Given the description of an element on the screen output the (x, y) to click on. 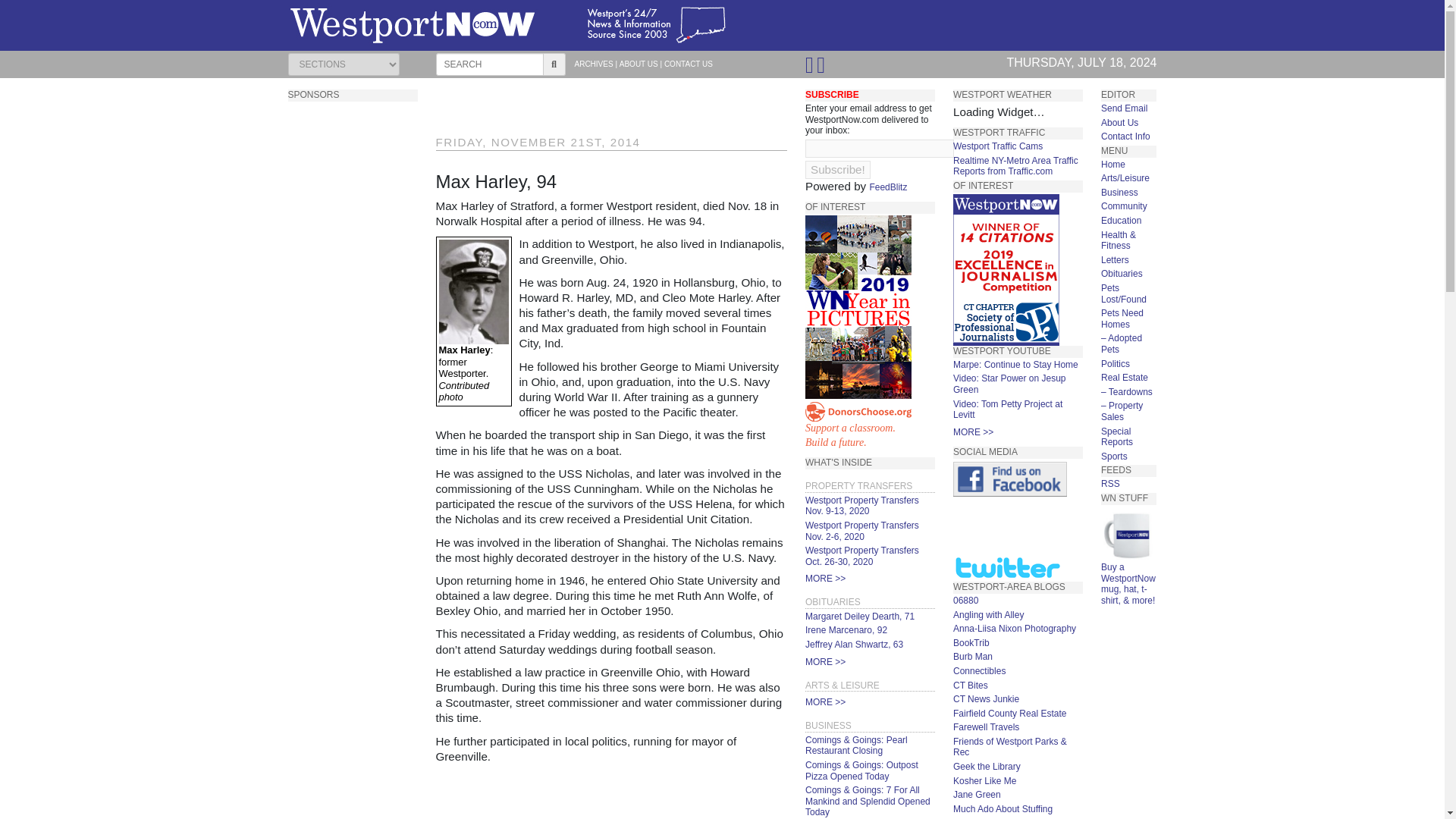
ARCHIVES (593, 63)
Margaret Deiley Dearth, 71 (859, 615)
CONTACT US (688, 63)
Search for: (489, 64)
Westport Property Transfers Nov. 2-6, 2020 (861, 531)
Westport Property Transfers Nov. 9-13, 2020 (861, 505)
Advertisement (869, 425)
Jeffrey Alan Shwartz, 63 (611, 795)
FeedBlitz (853, 644)
Irene Marcenaro, 92 (888, 186)
Subscribe! (845, 629)
Westport Property Transfers Oct. 26-30, 2020 (837, 169)
ABOUT US (861, 556)
